Given the description of an element on the screen output the (x, y) to click on. 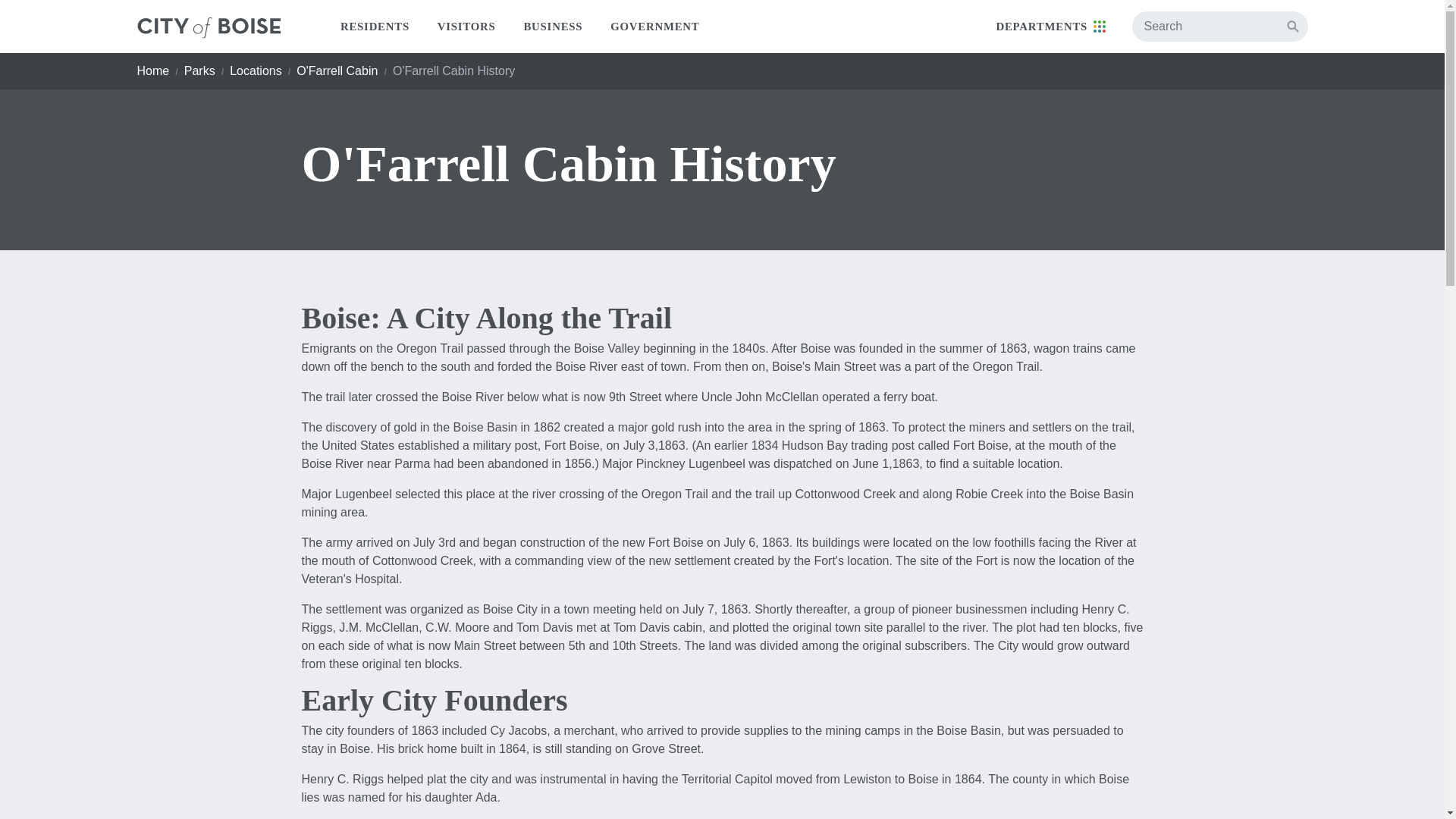
Home (152, 70)
DEPARTMENTS (1050, 26)
BUSINESS (552, 26)
Locations (256, 70)
Parks (199, 70)
VISITORS (466, 26)
SEARCH (1292, 26)
O'Farrell Cabin (337, 70)
GOVERNMENT (654, 26)
RESIDENTS (374, 26)
